Given the description of an element on the screen output the (x, y) to click on. 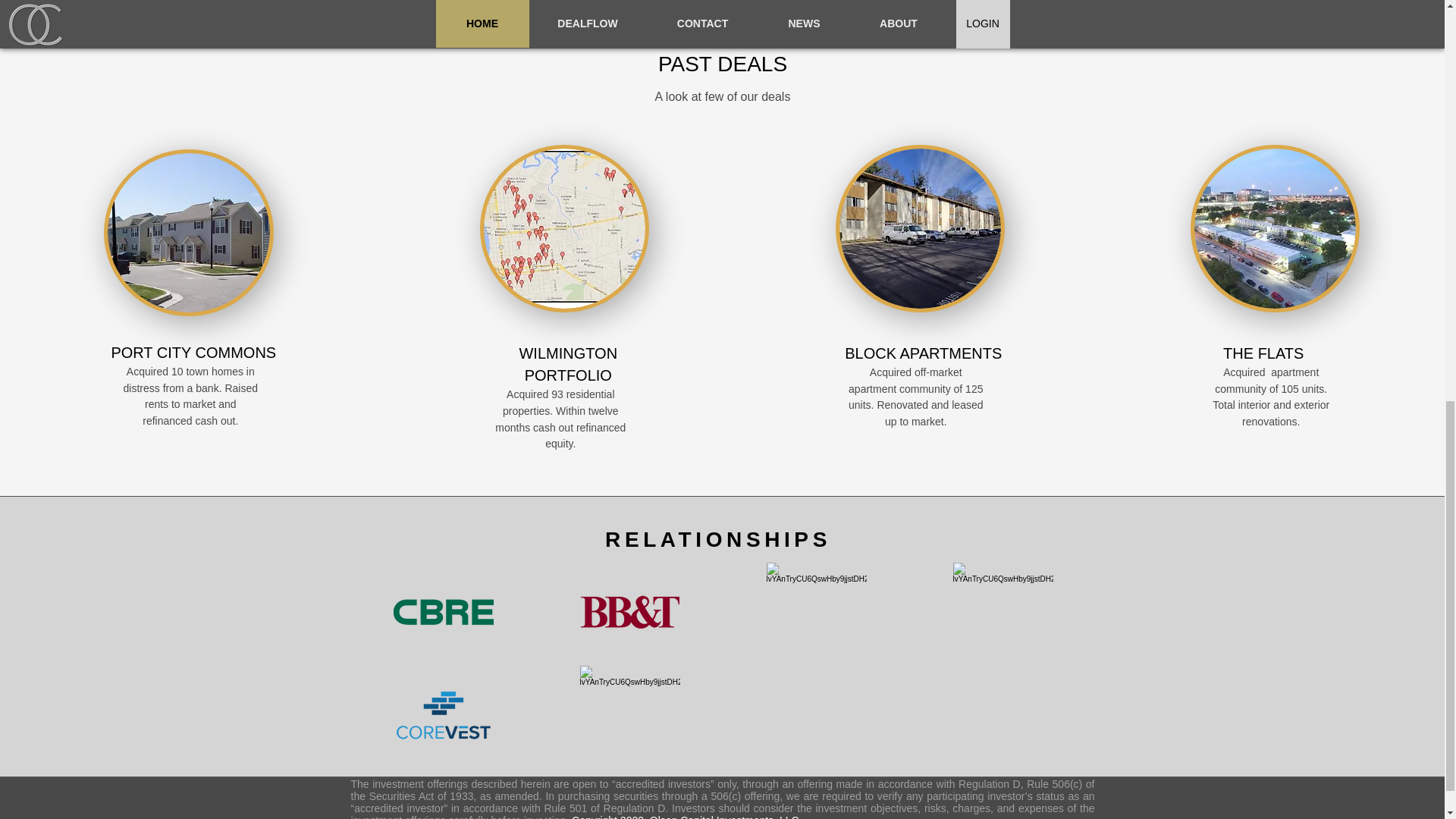
Privacy Policy (939, 818)
marcus-and-millichap-squarelogo-15345501 (815, 611)
purepng.com-fanniemae-logologobrand-logo (629, 714)
lvYAnTryCU6QswHby9jjstDH2561494914924223 (1002, 611)
